Given the description of an element on the screen output the (x, y) to click on. 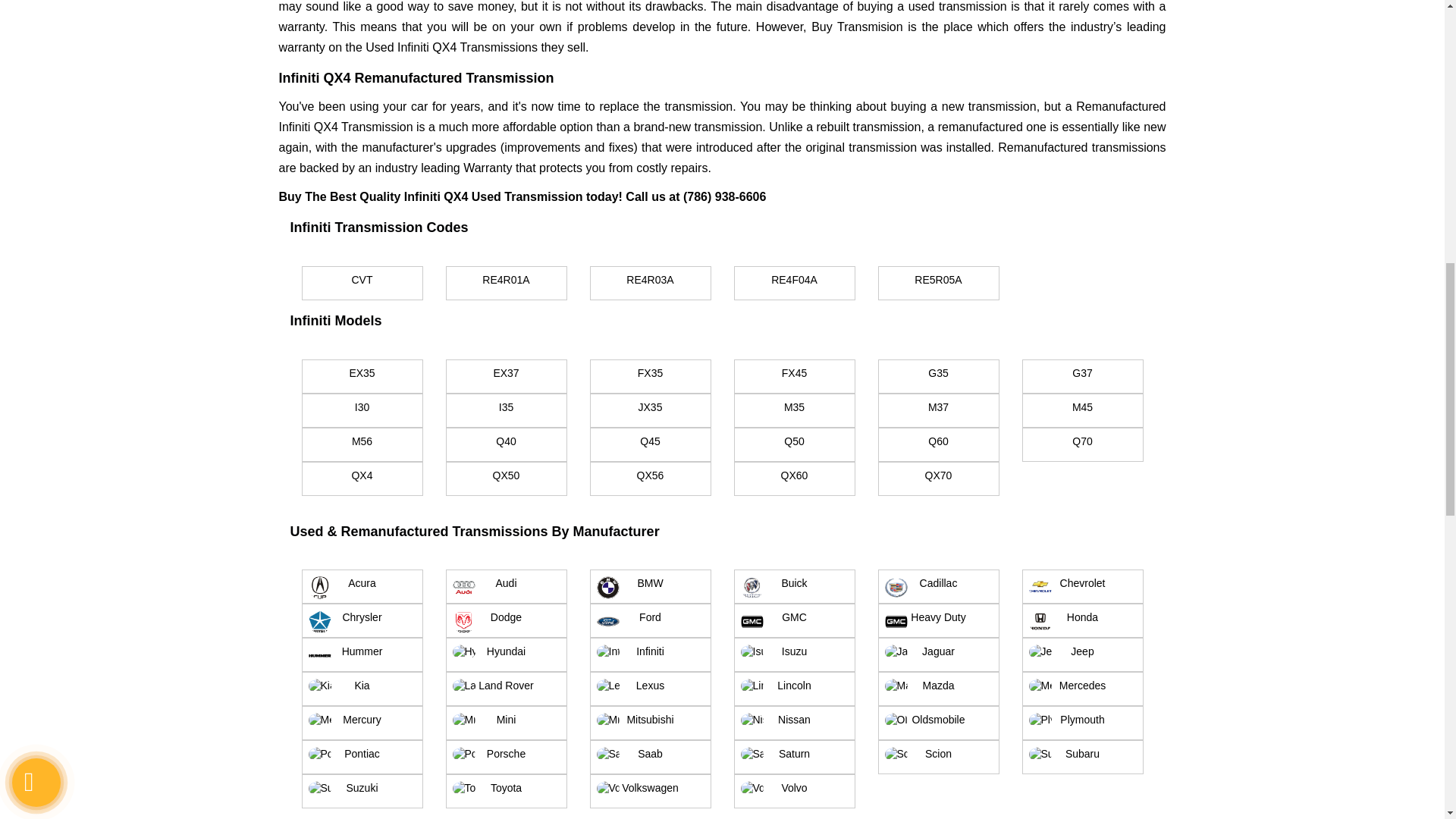
I35 (506, 410)
RE4F04A (794, 283)
Q50 (794, 444)
Q40 (506, 444)
Q45 (650, 444)
JX35 (650, 410)
M37 (937, 410)
M45 (1082, 410)
EX37 (506, 376)
I30 (362, 410)
